Given the description of an element on the screen output the (x, y) to click on. 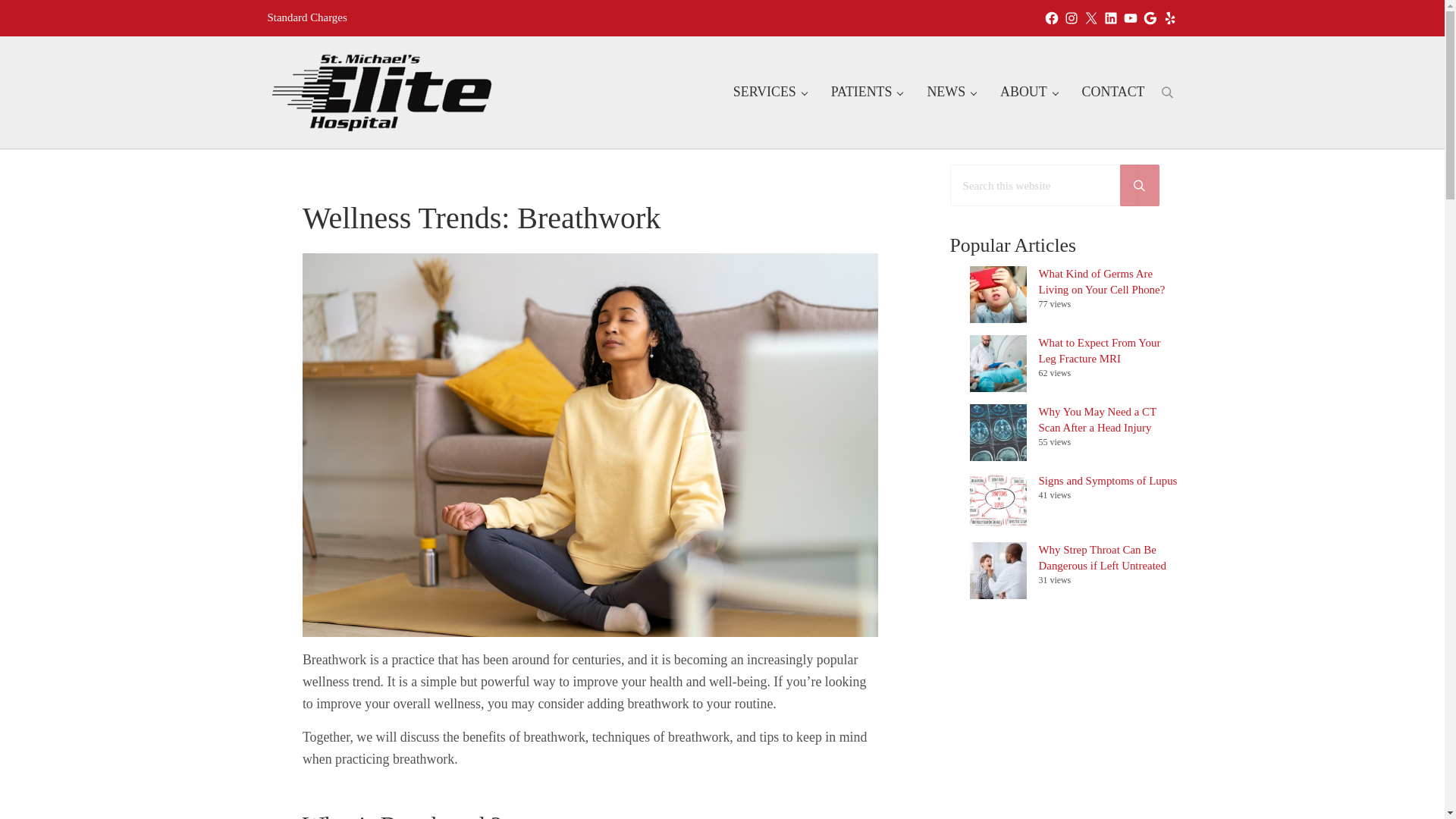
Instagram (1070, 17)
YouTube (1129, 17)
PATIENTS (866, 92)
X (1090, 17)
LinkedIn (1110, 17)
Google (1149, 17)
Yelp (1168, 17)
Standard Charges (306, 17)
SERVICES (769, 92)
Facebook (1050, 17)
